Given the description of an element on the screen output the (x, y) to click on. 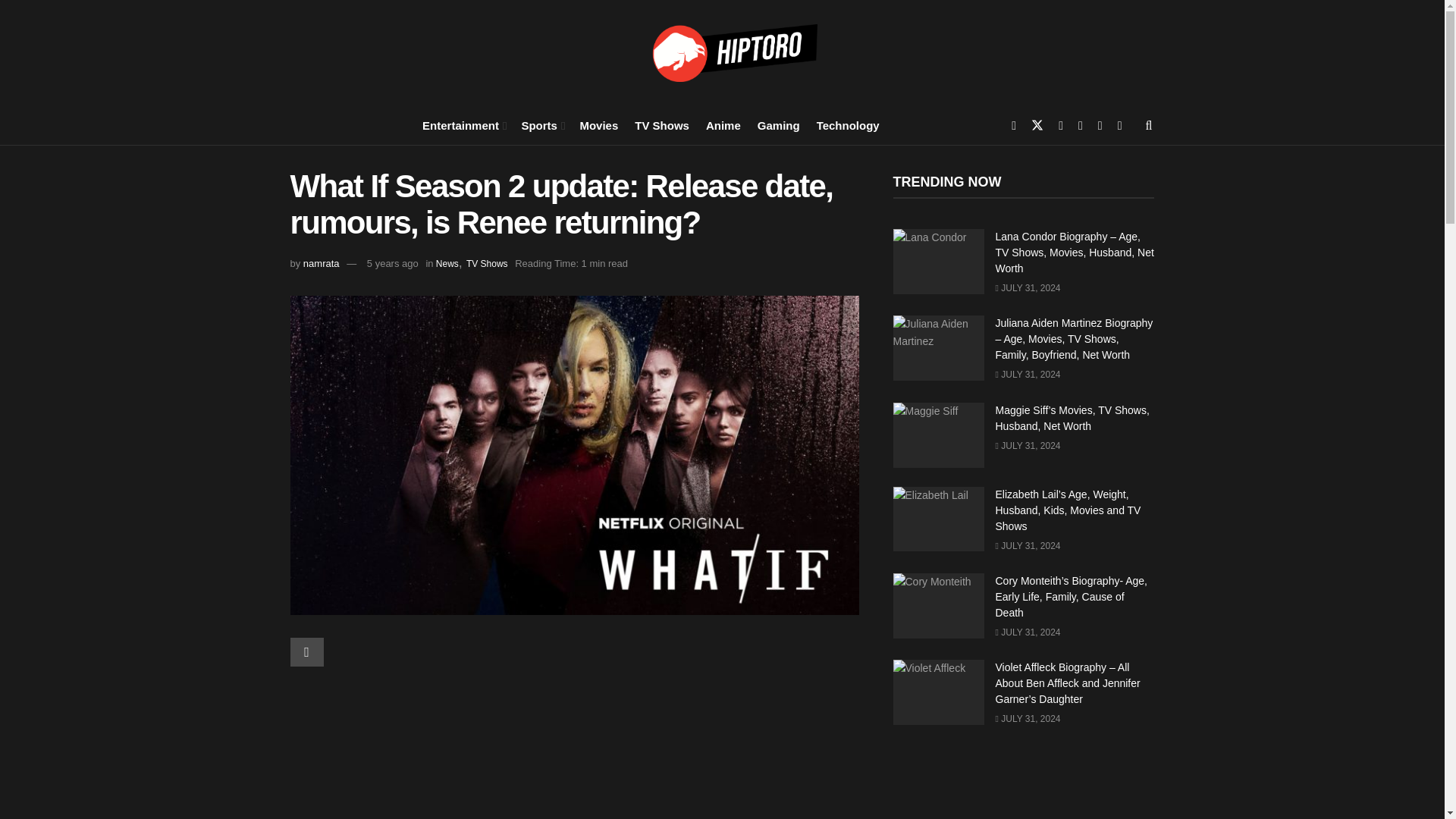
Sports (541, 124)
Anime (723, 124)
namrata (320, 263)
Technology (847, 124)
News (446, 263)
Gaming (778, 124)
Entertainment (462, 124)
5 years ago (392, 263)
TV Shows (661, 124)
Movies (598, 124)
